Given the description of an element on the screen output the (x, y) to click on. 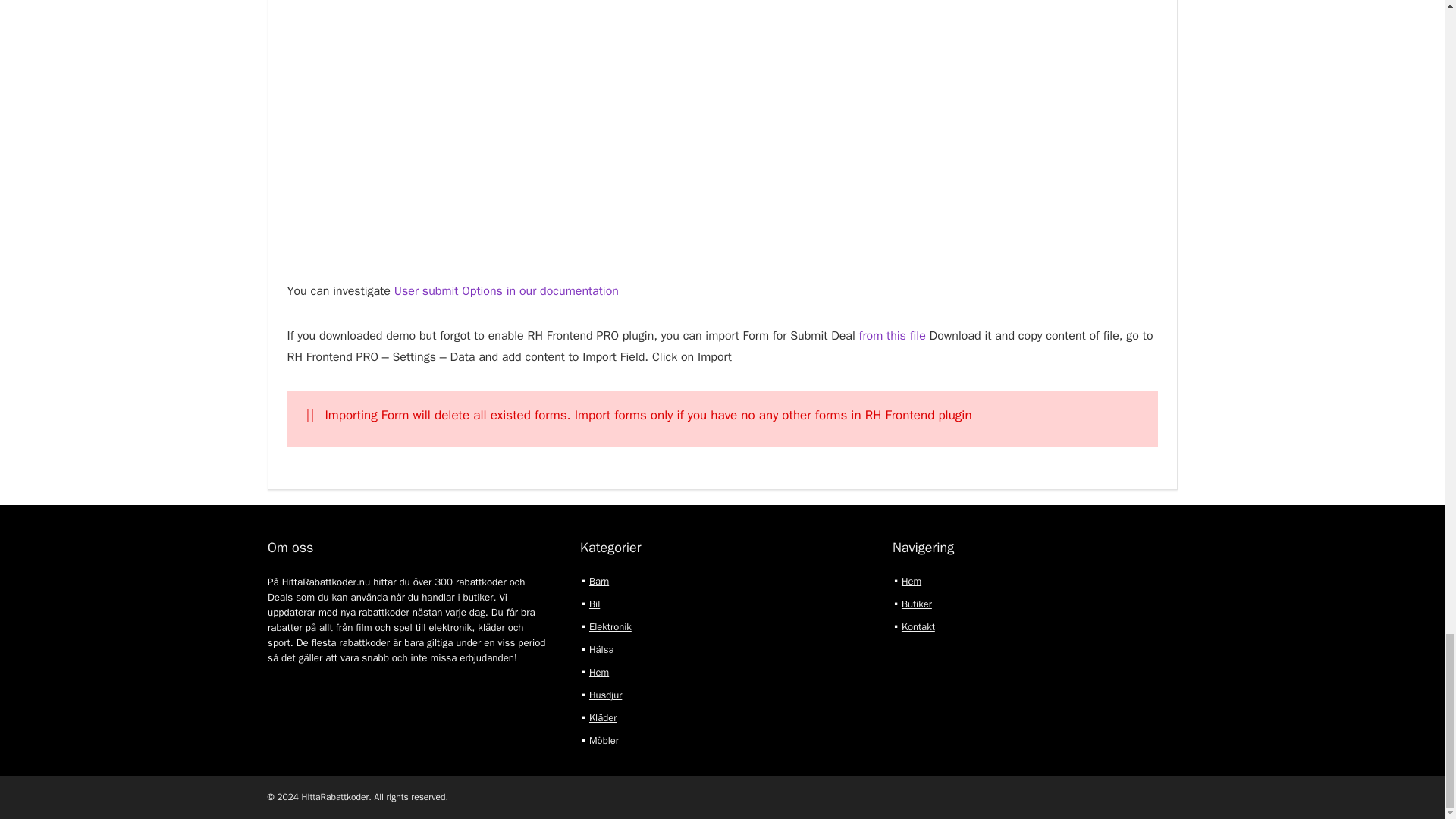
from this file (892, 335)
Butiker (916, 603)
Kontakt (917, 626)
Hem (911, 581)
Elektronik (610, 626)
User submit Options in our documentation (506, 290)
Husdjur (605, 694)
Barn (598, 581)
Hem (598, 671)
